Given the description of an element on the screen output the (x, y) to click on. 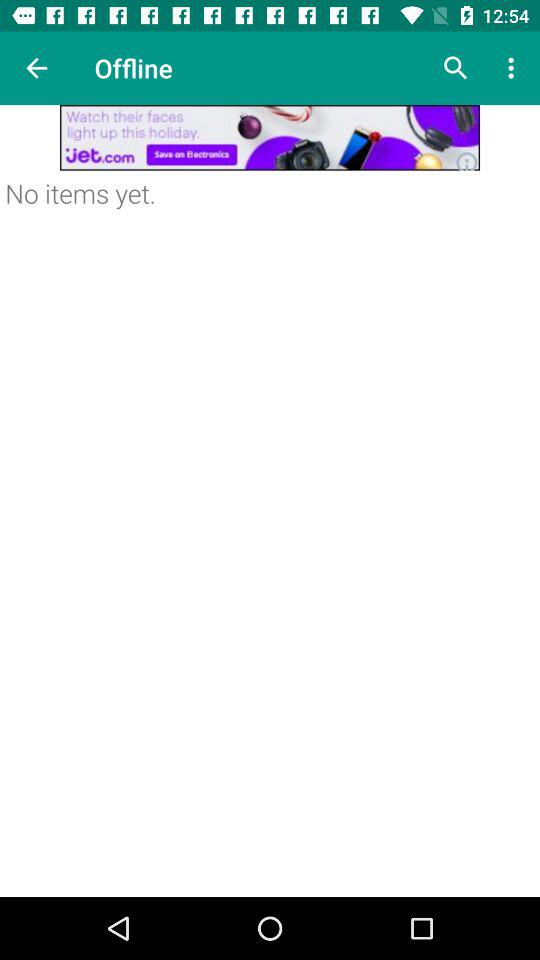
advertisement link (270, 137)
